Given the description of an element on the screen output the (x, y) to click on. 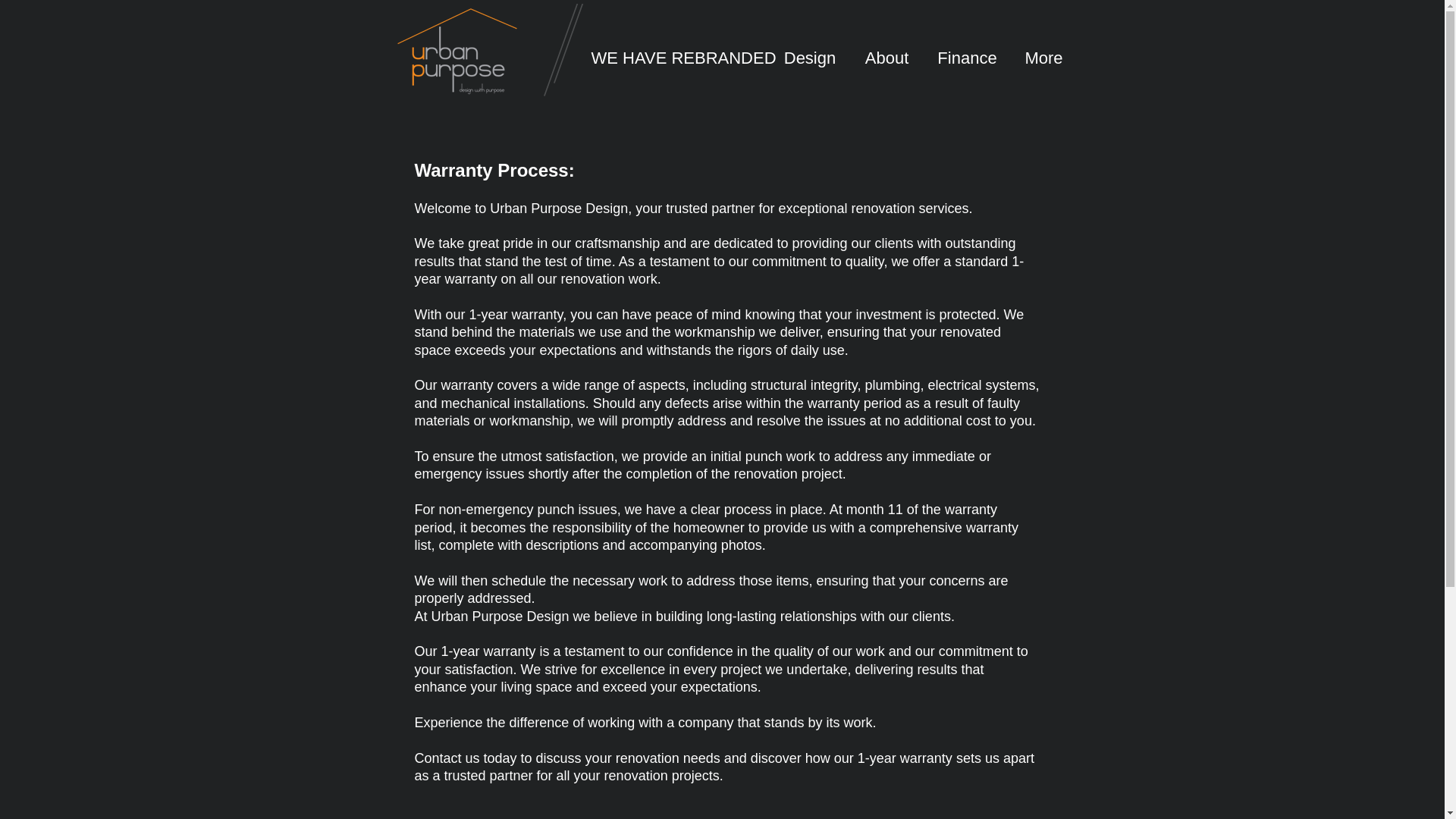
WE HAVE REBRANDED (675, 57)
Finance (967, 57)
Design (809, 57)
About (886, 57)
